Given the description of an element on the screen output the (x, y) to click on. 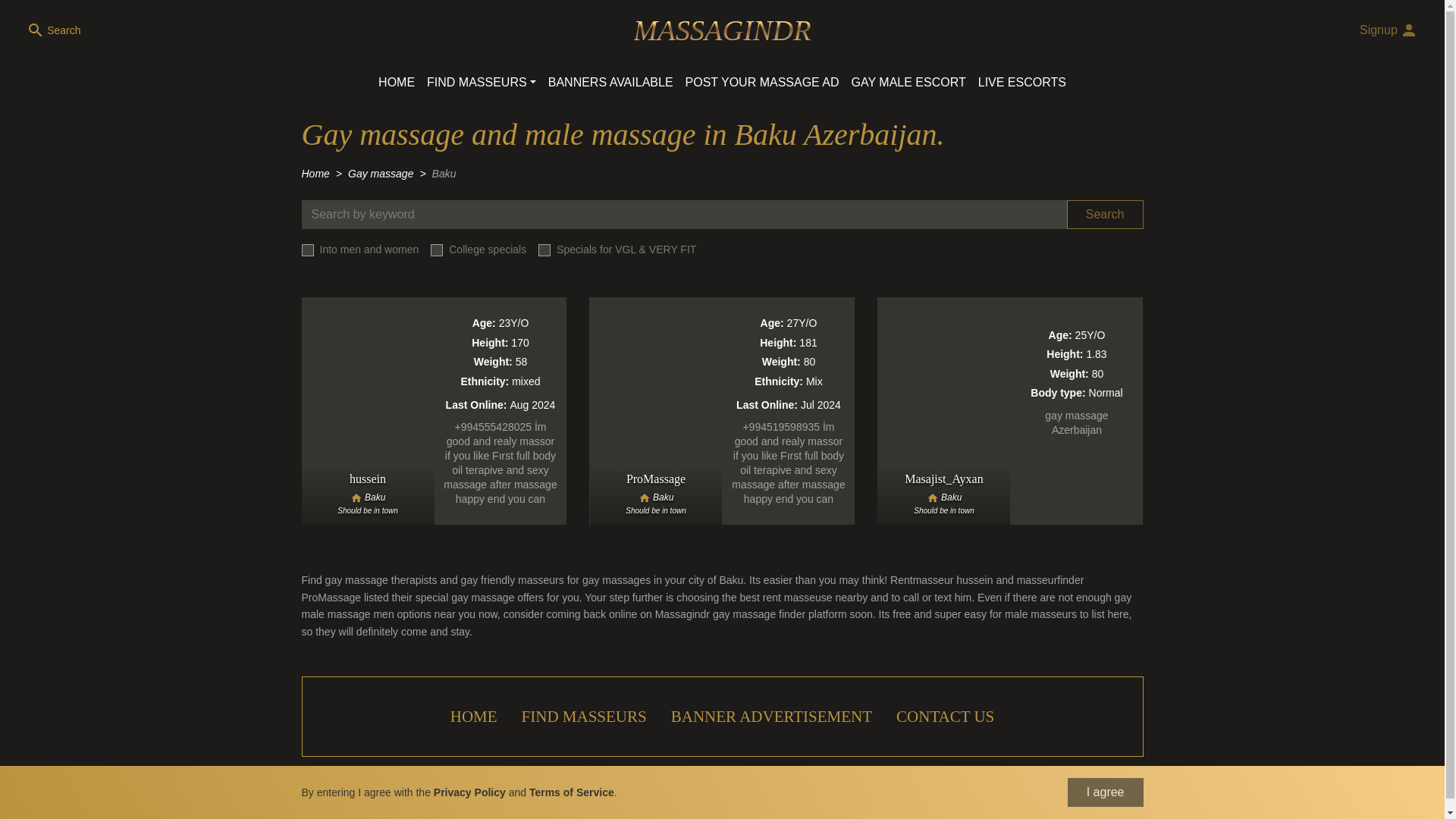
Privacy Policy (469, 792)
hussein - View profile (434, 410)
Baku, Baki, Azerbaijan (654, 497)
Search (1104, 214)
MASSAGINDR (721, 30)
HOME (473, 716)
CONTACT US (944, 716)
Baku, Baki, Azerbaijan (943, 497)
I agree (1104, 792)
GAY MALE ESCORT (908, 82)
